Given the description of an element on the screen output the (x, y) to click on. 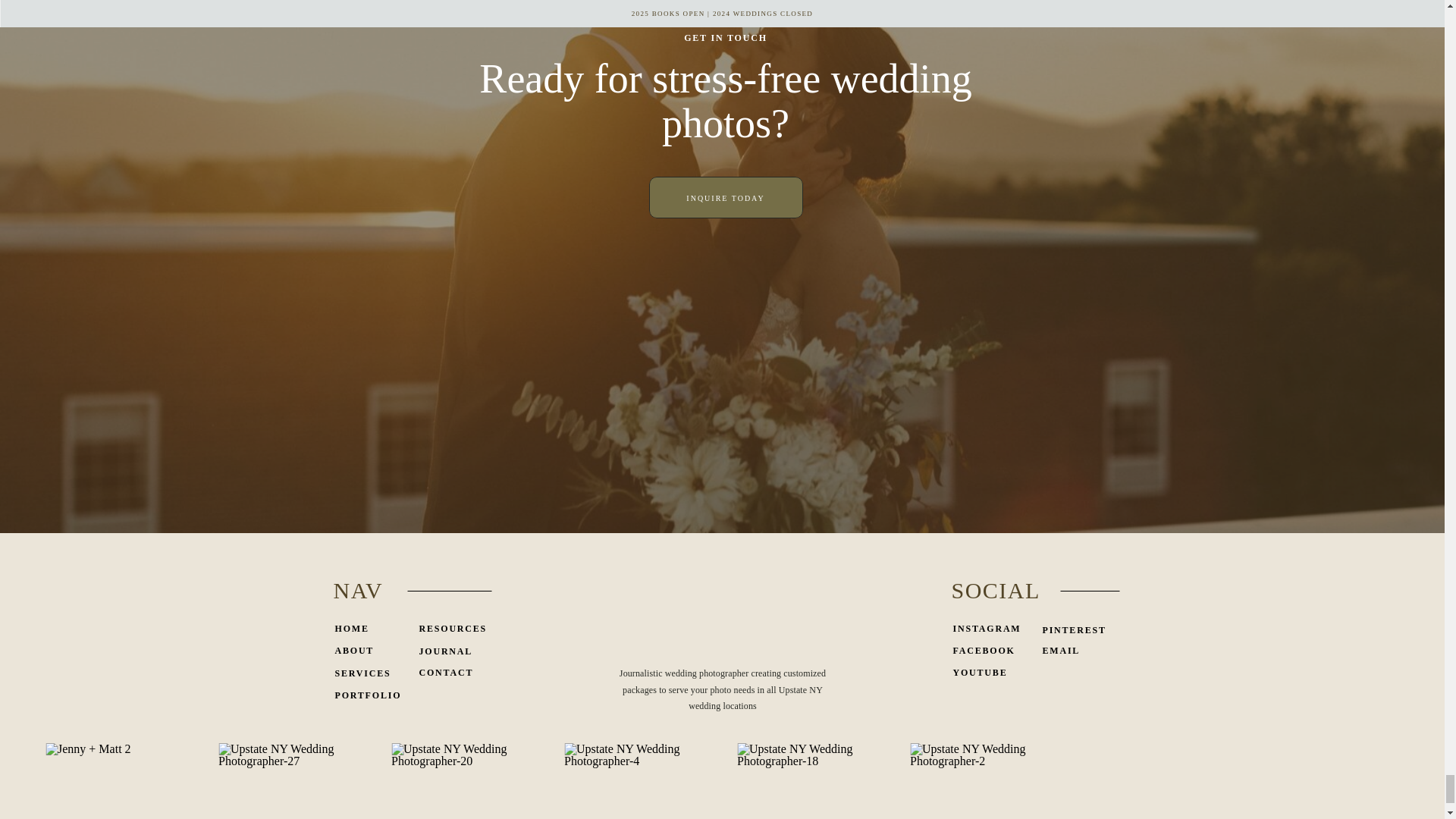
RESOURCES (455, 629)
SERVICES (365, 674)
Upstate NY Wedding Photographer-21 (1324, 780)
YOUTUBE (988, 674)
ABOUT (359, 651)
CONTACT (448, 674)
Upstate NY Wedding Photographer-13 (1152, 780)
INQUIRE TODAY (726, 196)
Upstate NY Wedding Photographer-27 (287, 780)
JOURNAL (448, 652)
Upstate NY Wedding Photographer-4 (632, 780)
Upstate NY Wedding Photographer-20 (460, 780)
INSTAGRAM (987, 629)
Upstate NY Wedding Photographer-2 (979, 780)
EMAIL (1078, 651)
